Given the description of an element on the screen output the (x, y) to click on. 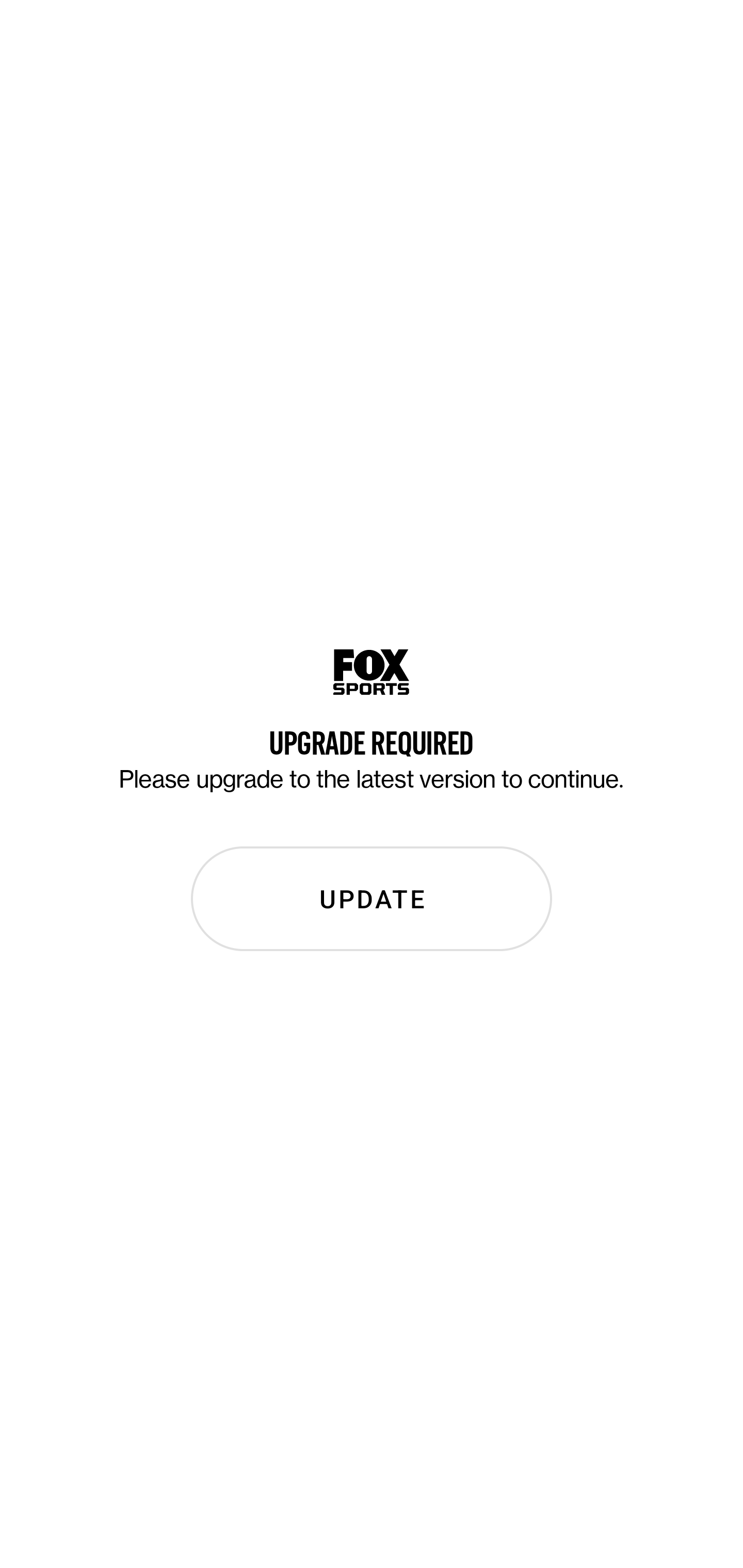
UPDATE (371, 898)
